Given the description of an element on the screen output the (x, y) to click on. 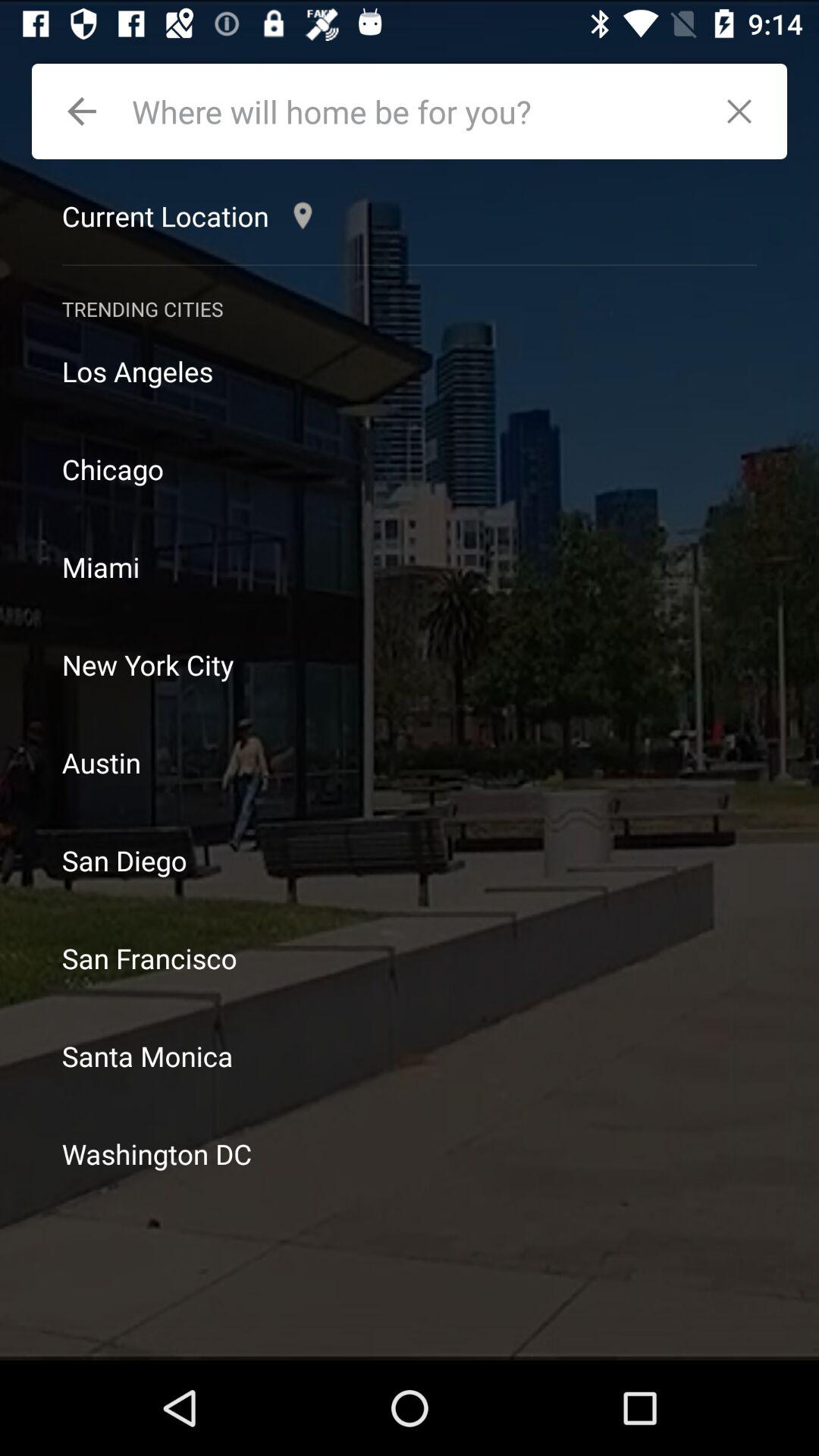
jump to miami icon (409, 566)
